Given the description of an element on the screen output the (x, y) to click on. 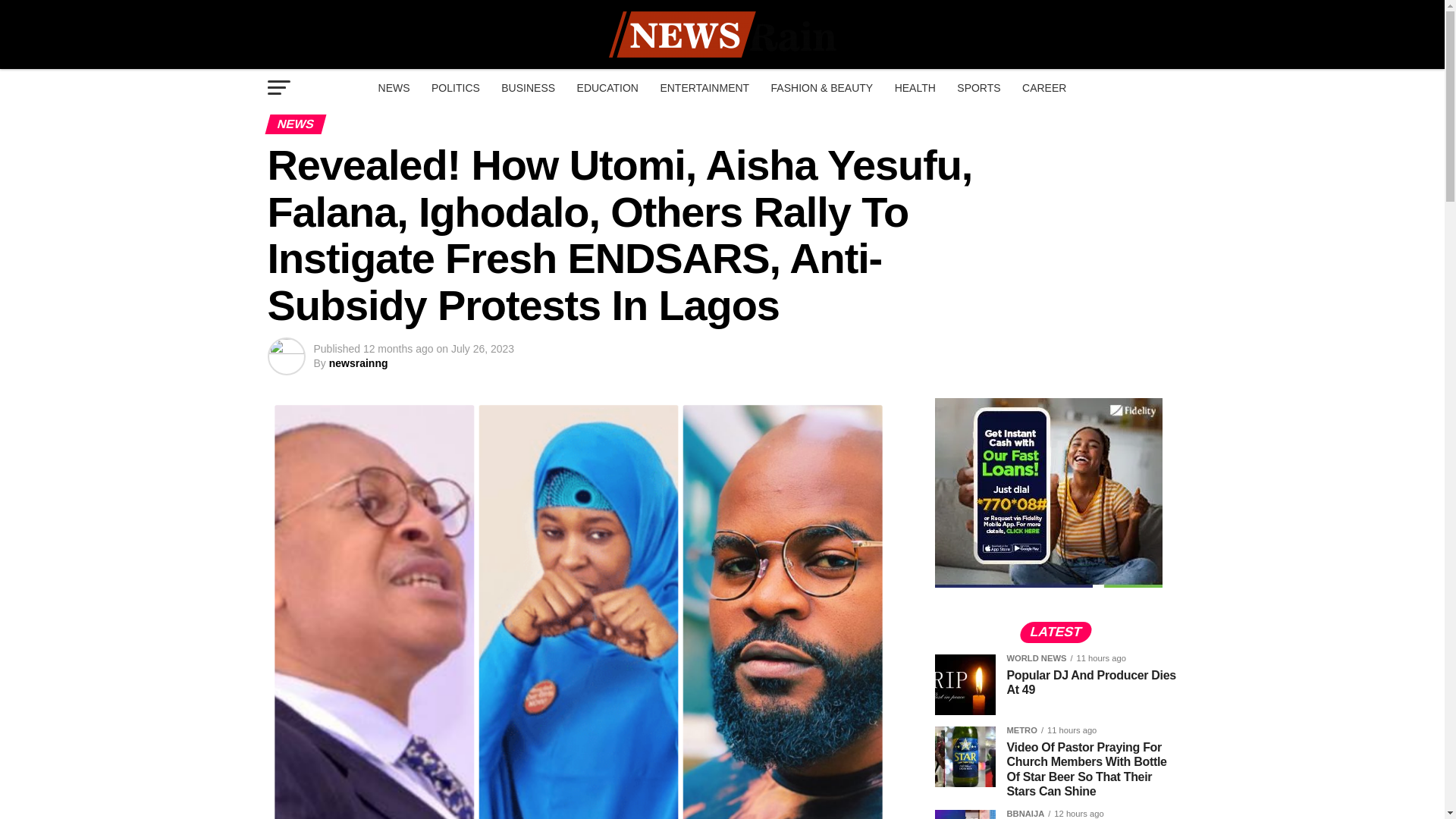
POLITICS (455, 87)
BUSINESS (528, 87)
NEWS (394, 87)
EDUCATION (607, 87)
Posts by newsrainng (358, 363)
ENTERTAINMENT (704, 87)
